Given the description of an element on the screen output the (x, y) to click on. 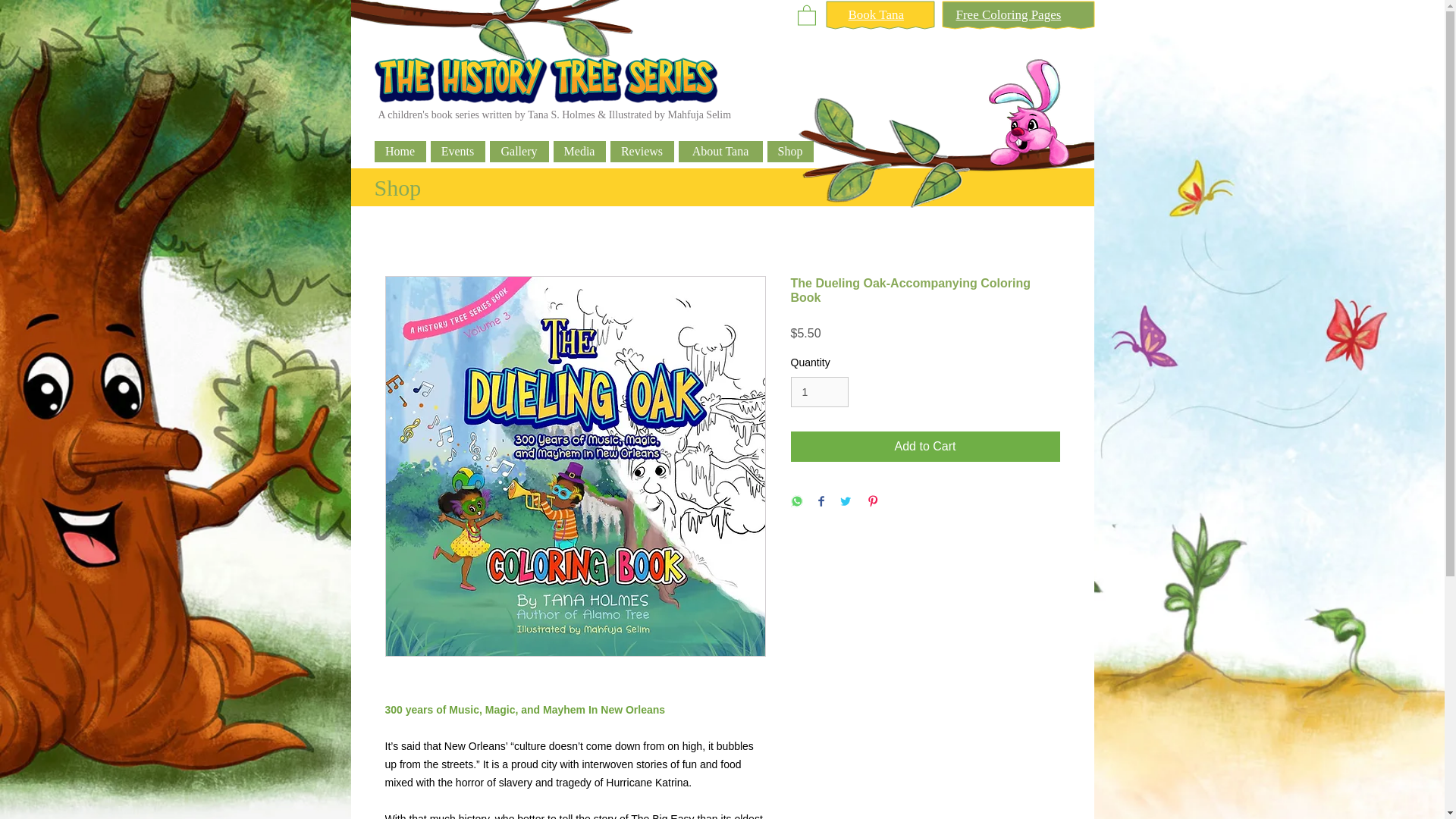
Book Tana (875, 14)
Home (400, 151)
Shop (790, 151)
Events (457, 151)
Free Coloring Pages (1008, 14)
Add to Cart (924, 446)
Reviews (641, 151)
Gallery (518, 151)
Media (579, 151)
1 (818, 391)
About Tana (719, 151)
